Given the description of an element on the screen output the (x, y) to click on. 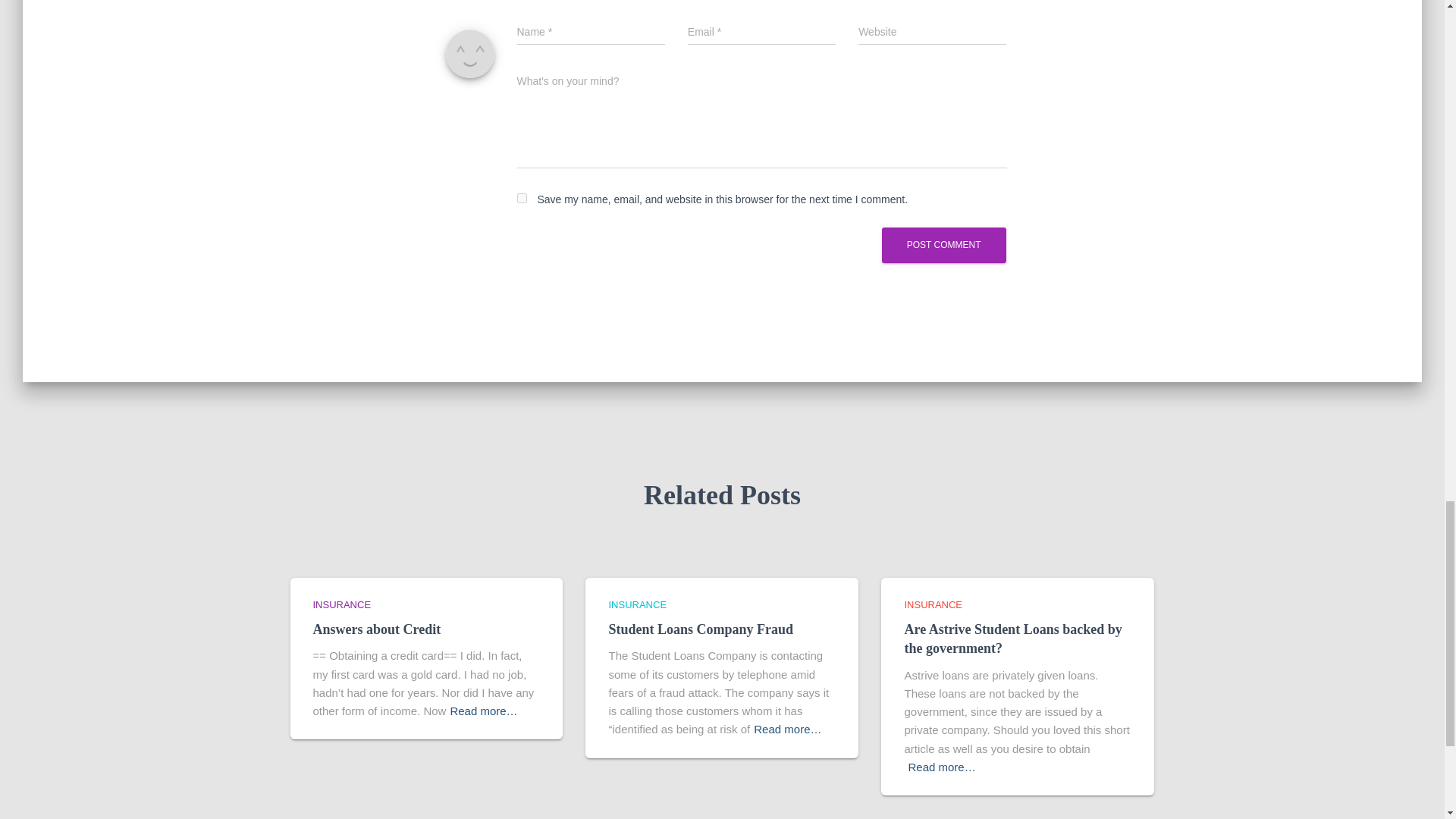
yes (521, 198)
Are Astrive Student Loans backed by the government? (1012, 638)
View all posts in Insurance (342, 604)
INSURANCE (933, 604)
Answers about Credit (377, 629)
Post Comment (944, 244)
Student Loans Company Fraud (700, 629)
Answers about Credit (377, 629)
INSURANCE (342, 604)
View all posts in Insurance (637, 604)
Post Comment (944, 244)
INSURANCE (637, 604)
